Given the description of an element on the screen output the (x, y) to click on. 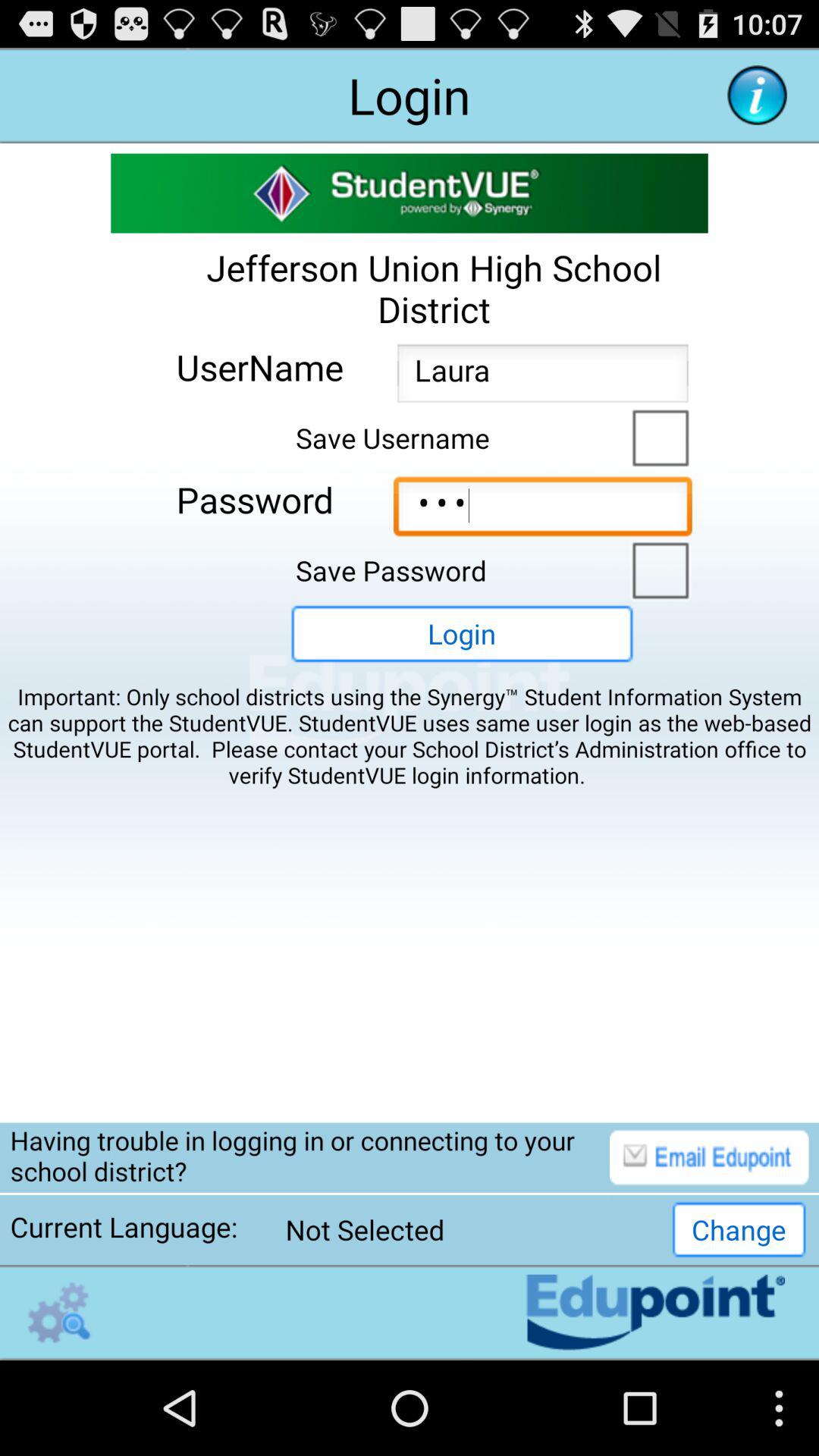
send email for login issues (708, 1157)
